Given the description of an element on the screen output the (x, y) to click on. 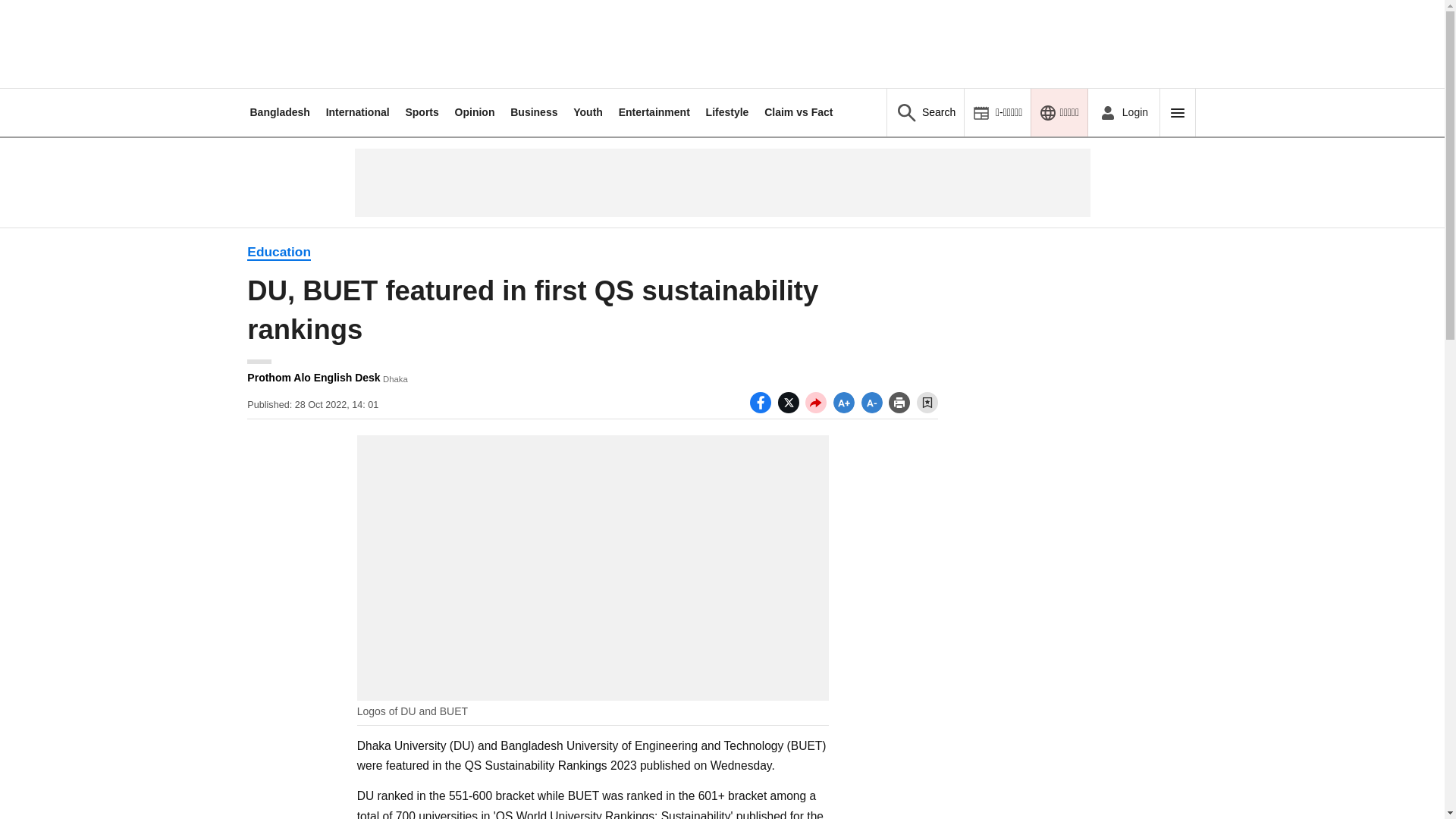
Claim vs Fact (798, 111)
Sports (421, 111)
Bangladesh (278, 111)
Search (924, 112)
Login (1122, 112)
International (358, 111)
Entertainment (654, 111)
Youth (587, 111)
Education (279, 252)
Opinion (474, 111)
